Given the description of an element on the screen output the (x, y) to click on. 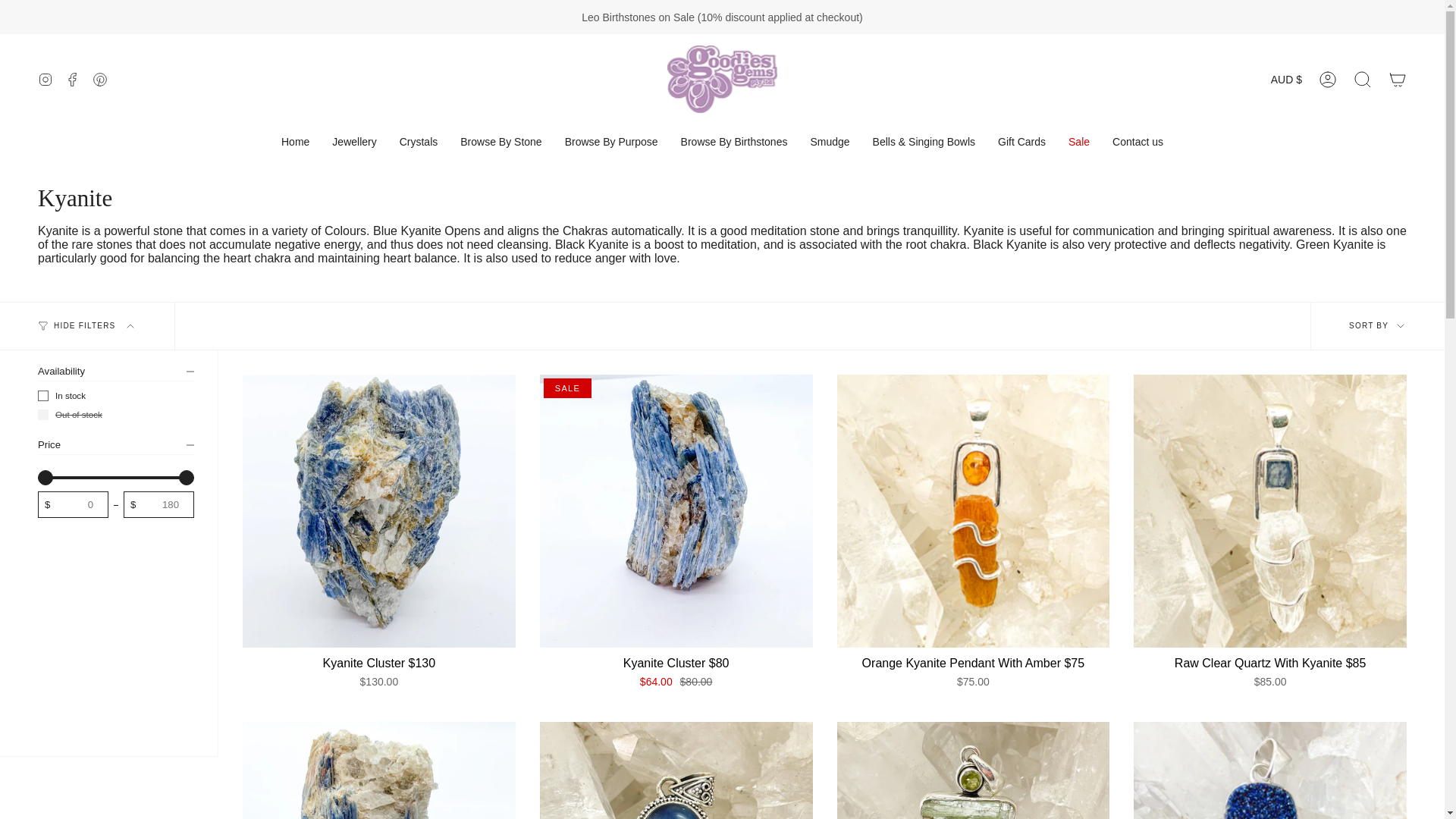
Home (294, 141)
Jewellery (353, 141)
Crystals (418, 141)
